Given the description of an element on the screen output the (x, y) to click on. 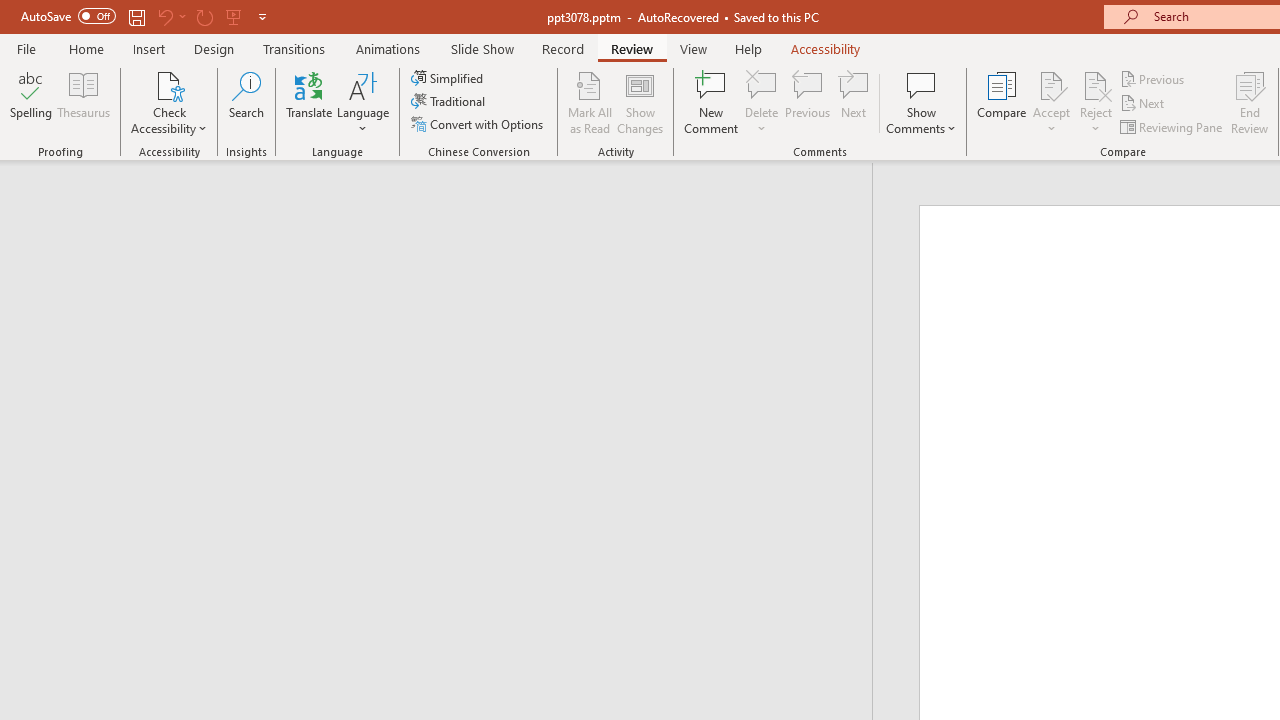
Show Comments (921, 84)
Accept (1051, 102)
